Given the description of an element on the screen output the (x, y) to click on. 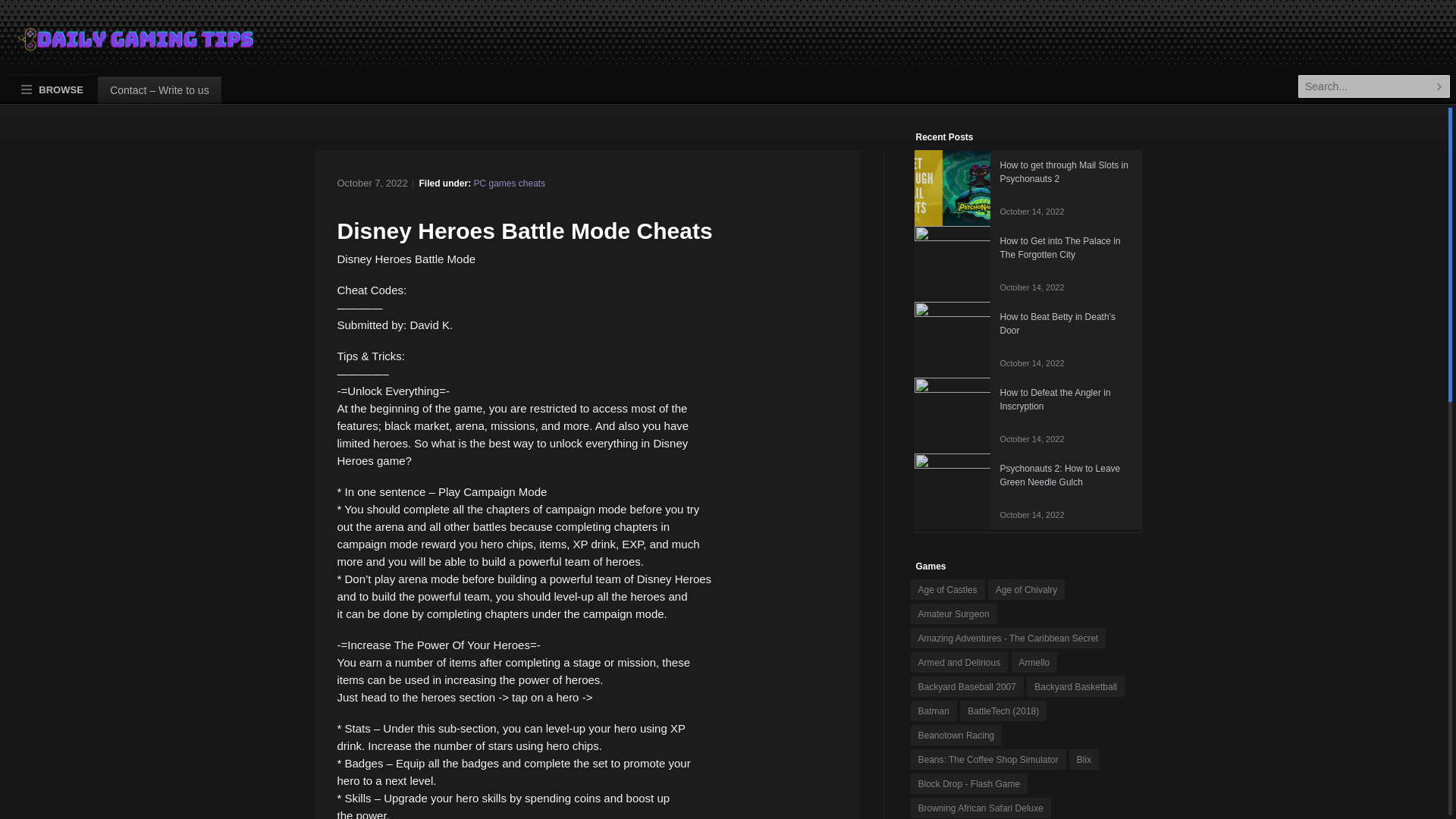
Backyard Baseball 2007 (966, 686)
PC games cheats (508, 183)
Dailygamingtips.com (123, 45)
Browning African Safari Deluxe (979, 807)
Beanotown Racing (955, 734)
Amateur Surgeon (952, 613)
Armello (1034, 661)
Batman (933, 711)
Age of Castles (947, 589)
